Given the description of an element on the screen output the (x, y) to click on. 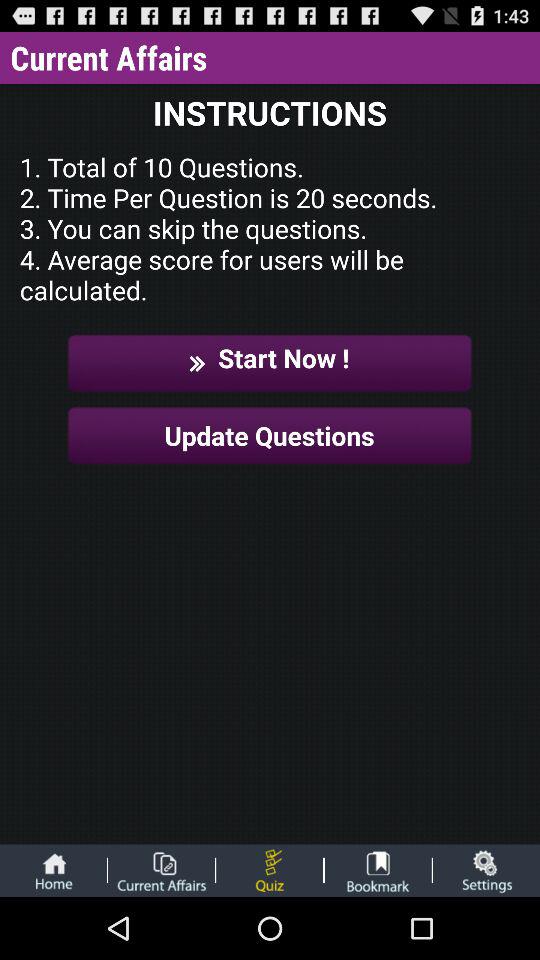
tap the update questions item (269, 435)
